Given the description of an element on the screen output the (x, y) to click on. 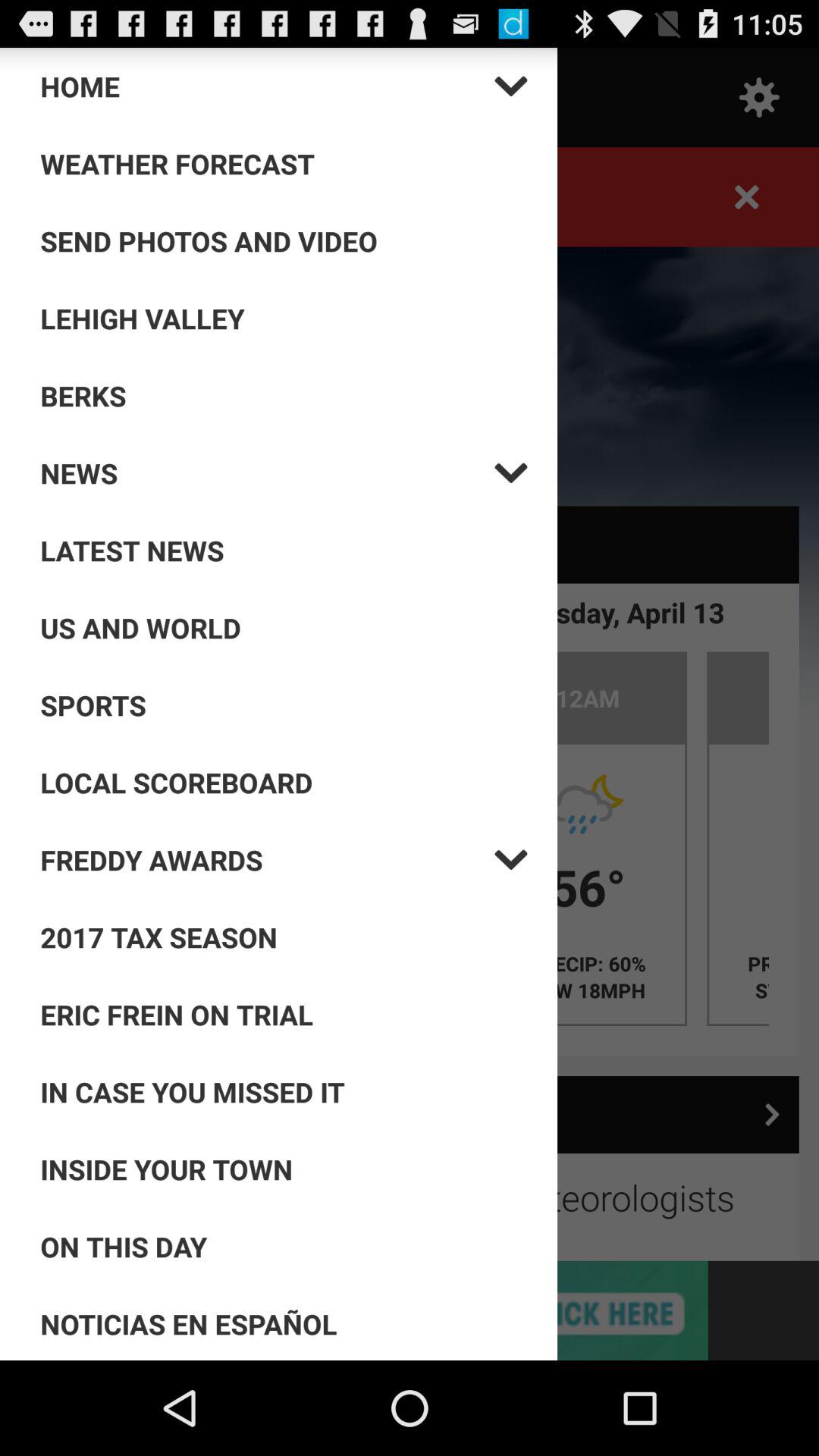
click on 2017 tax season (283, 937)
select eric frein on trial (283, 1014)
click on send photos and video (283, 241)
click on the button below lehigh valley (283, 395)
click on the button below in case you missed it (283, 1169)
